Given the description of an element on the screen output the (x, y) to click on. 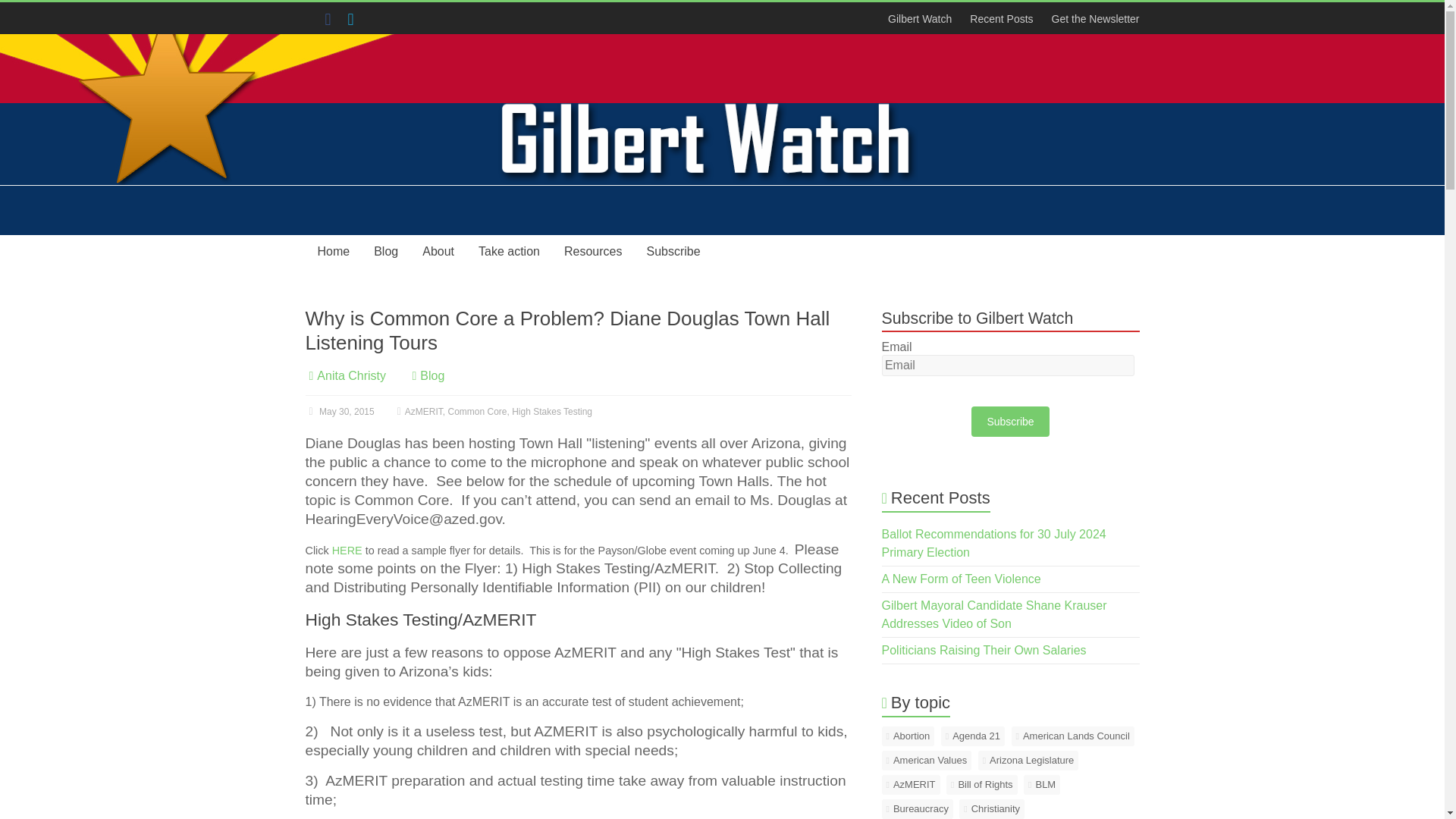
Anita Christy (351, 375)
Recent Posts (1001, 18)
About (437, 251)
High Stakes Testing (552, 411)
Blog (432, 375)
Blog (385, 251)
7:19 pm (339, 411)
Resources (592, 251)
Home (332, 251)
Take action (508, 251)
Gilbert Watch (919, 18)
HERE (346, 550)
Get the Newsletter (1091, 18)
AzMERIT (423, 411)
Anita Christy (351, 375)
